Given the description of an element on the screen output the (x, y) to click on. 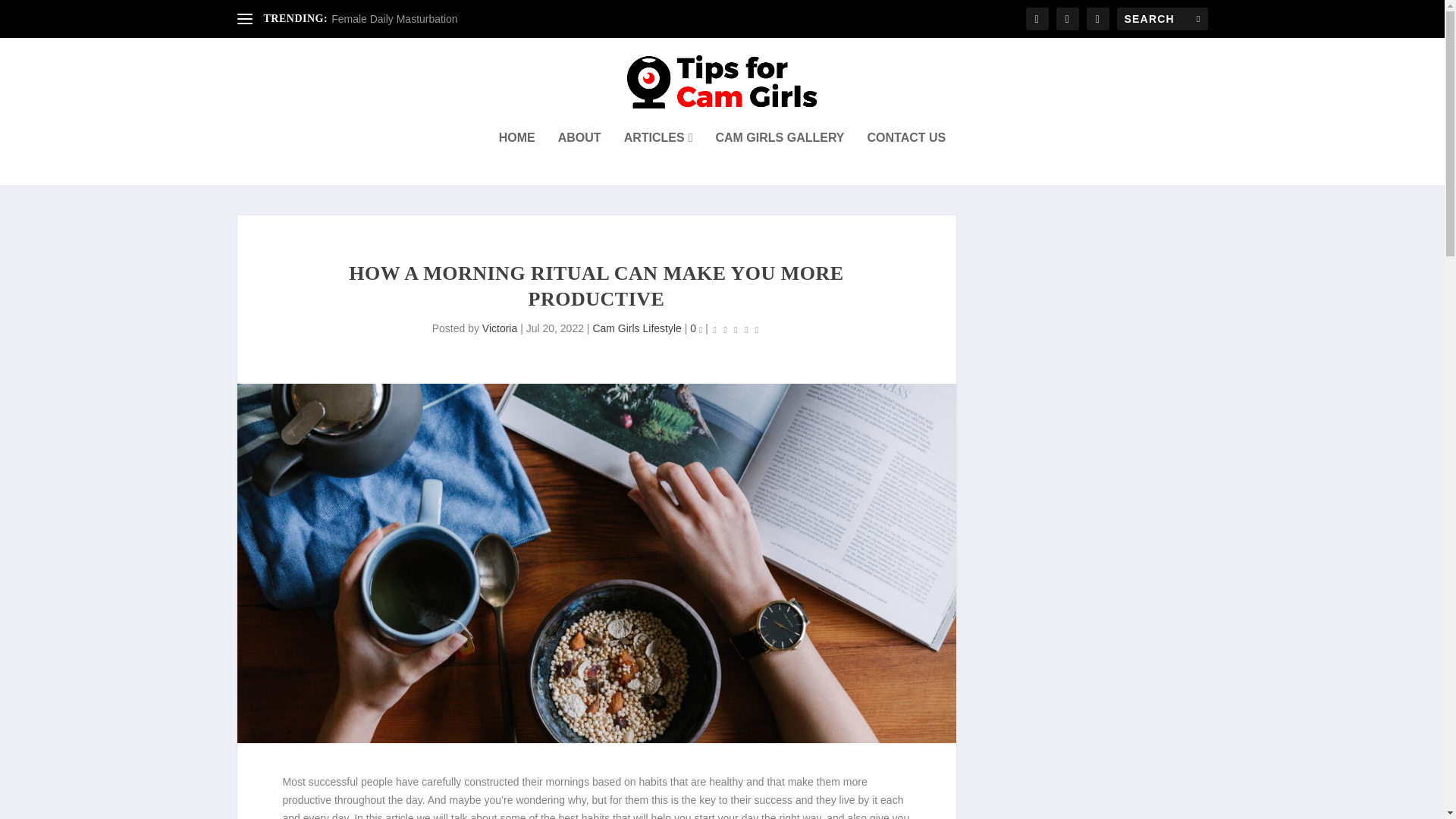
Victoria (498, 328)
0 (695, 328)
ARTICLES (658, 158)
Search for: (1161, 18)
Cam Girls Lifestyle (636, 328)
CONTACT US (906, 158)
CAM GIRLS GALLERY (779, 158)
Rating: 0.00 (736, 329)
Posts by Victoria (498, 328)
Female Daily Masturbation (394, 19)
